Given the description of an element on the screen output the (x, y) to click on. 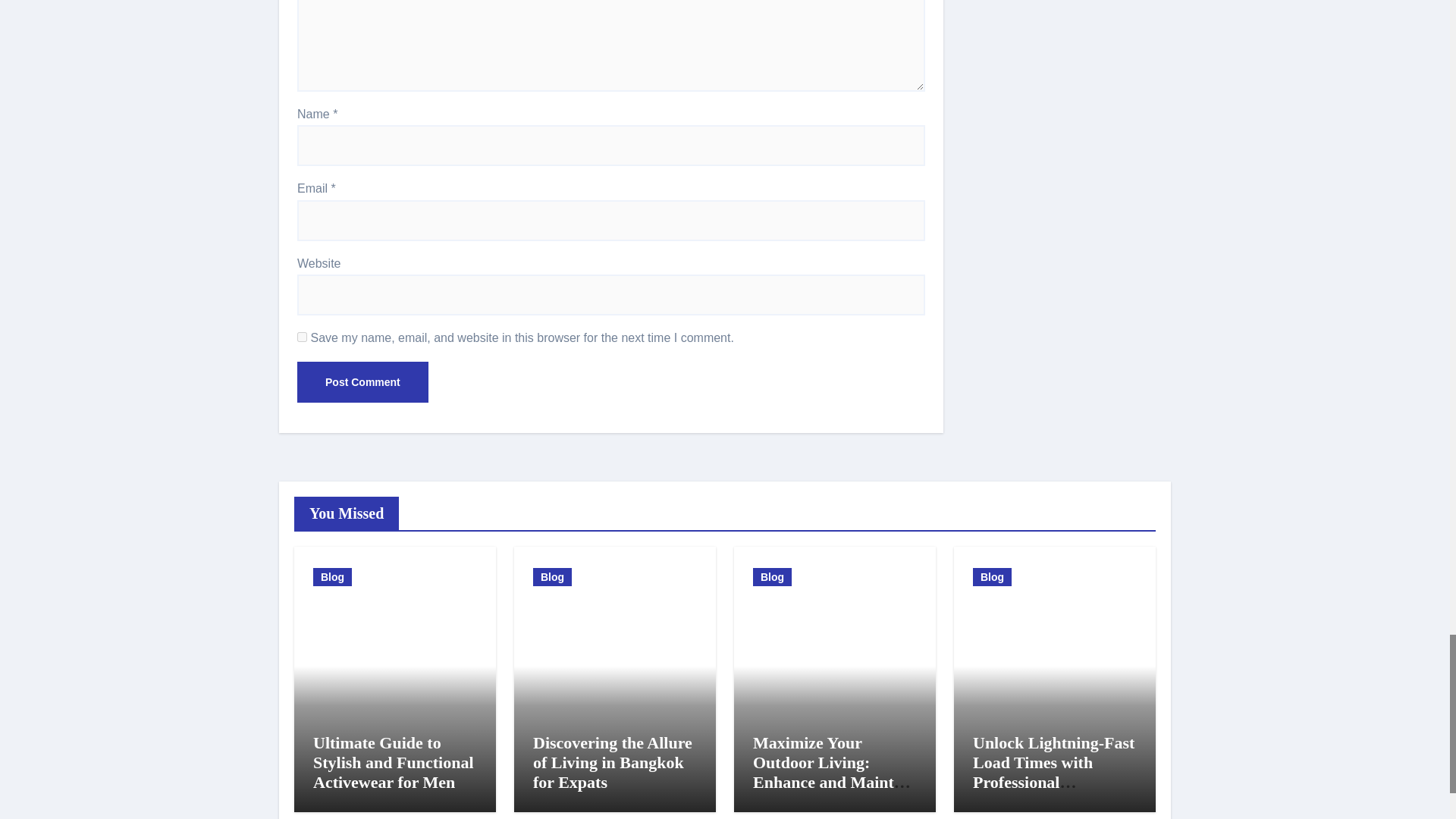
yes (302, 337)
Post Comment (362, 381)
